Given the description of an element on the screen output the (x, y) to click on. 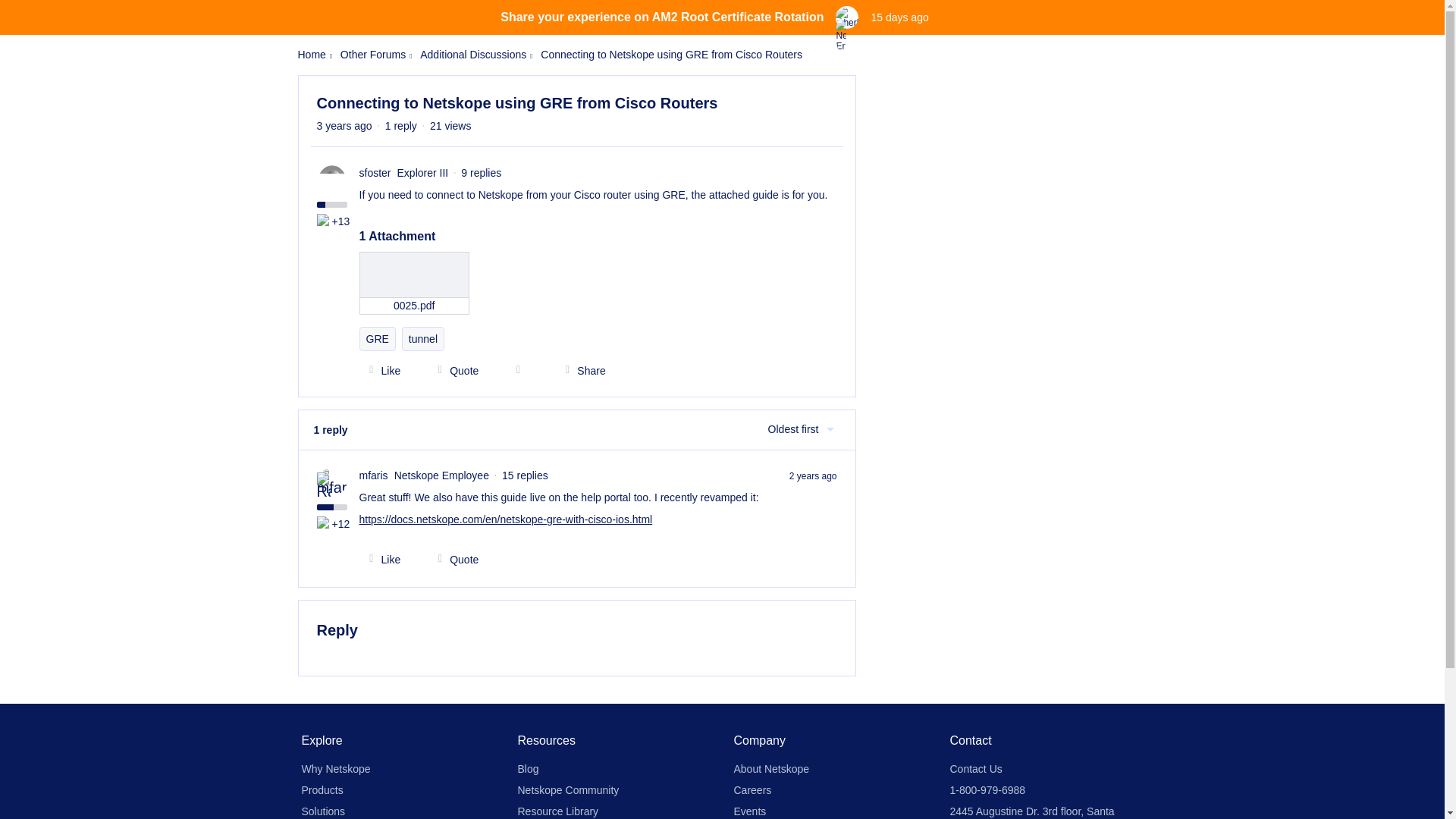
mfaris (373, 475)
Other Forums (373, 54)
Solutions - 2 (324, 221)
GRE (377, 338)
Why Netskope (336, 768)
tunnel (422, 338)
Like (380, 370)
Additional Discussions (472, 54)
mfaris (373, 475)
0025.pdf (414, 282)
Like (380, 559)
Home (310, 54)
sfoster (375, 172)
Quote (453, 559)
Shared Images - 1 (324, 523)
